Given the description of an element on the screen output the (x, y) to click on. 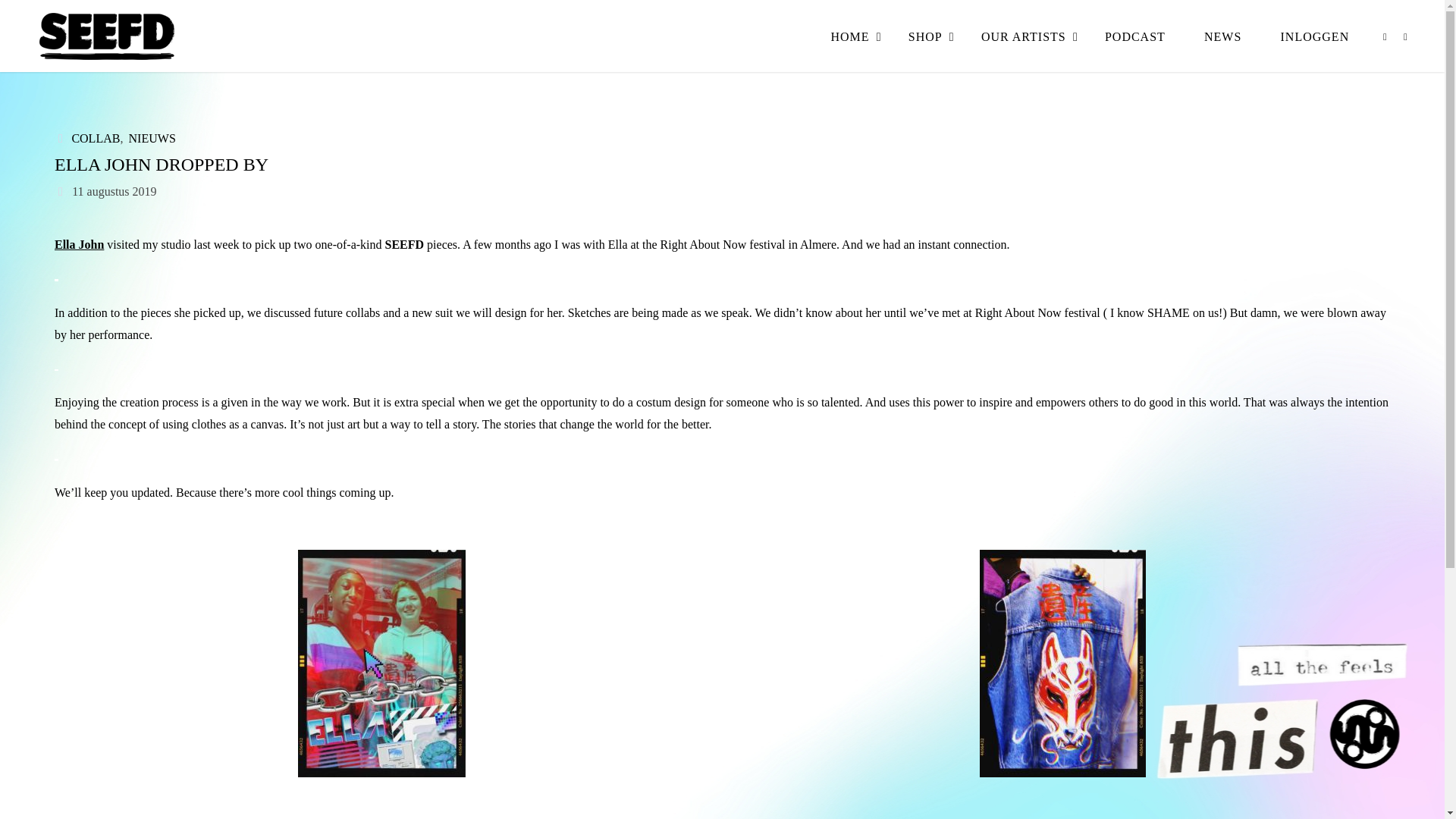
PODCAST (1134, 36)
OUR ARTISTS (1022, 36)
SEEFD (105, 35)
SHOP (924, 36)
Date (61, 191)
HOME (849, 36)
NEWS (1222, 36)
Categories (61, 137)
INLOGGEN (1314, 36)
